Given the description of an element on the screen output the (x, y) to click on. 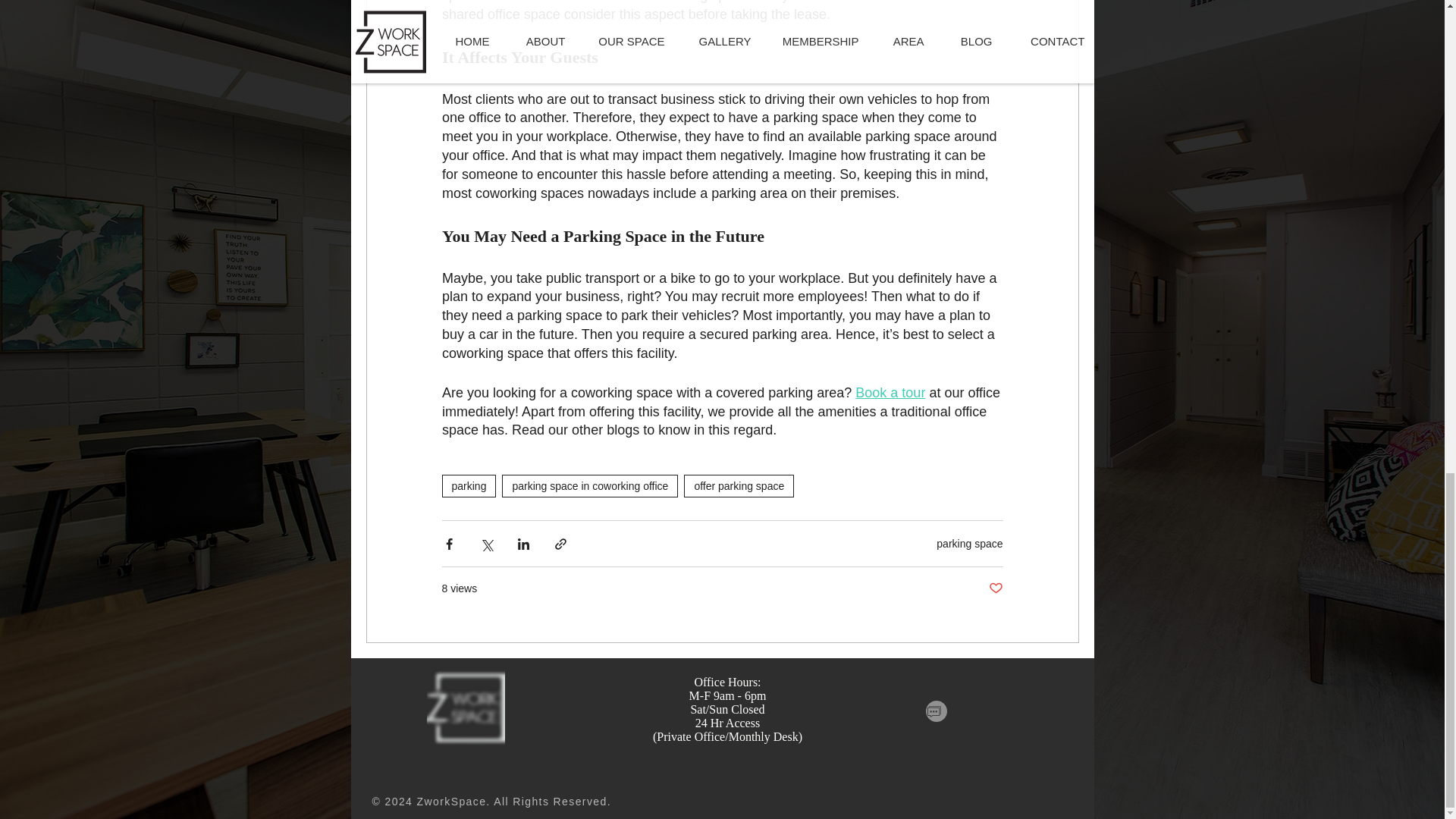
Logo (464, 707)
